Given the description of an element on the screen output the (x, y) to click on. 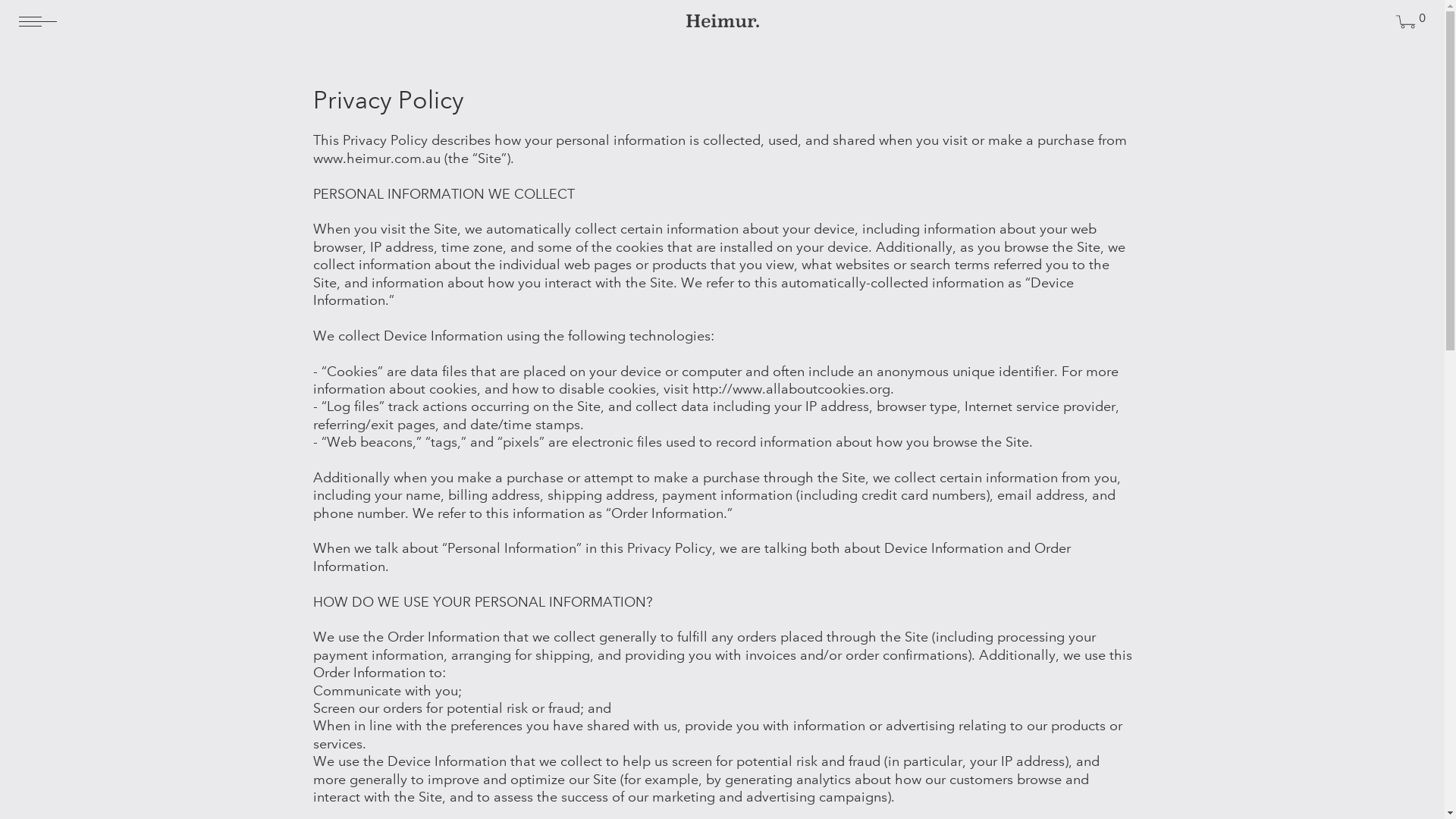
0 Element type: text (1406, 23)
